Given the description of an element on the screen output the (x, y) to click on. 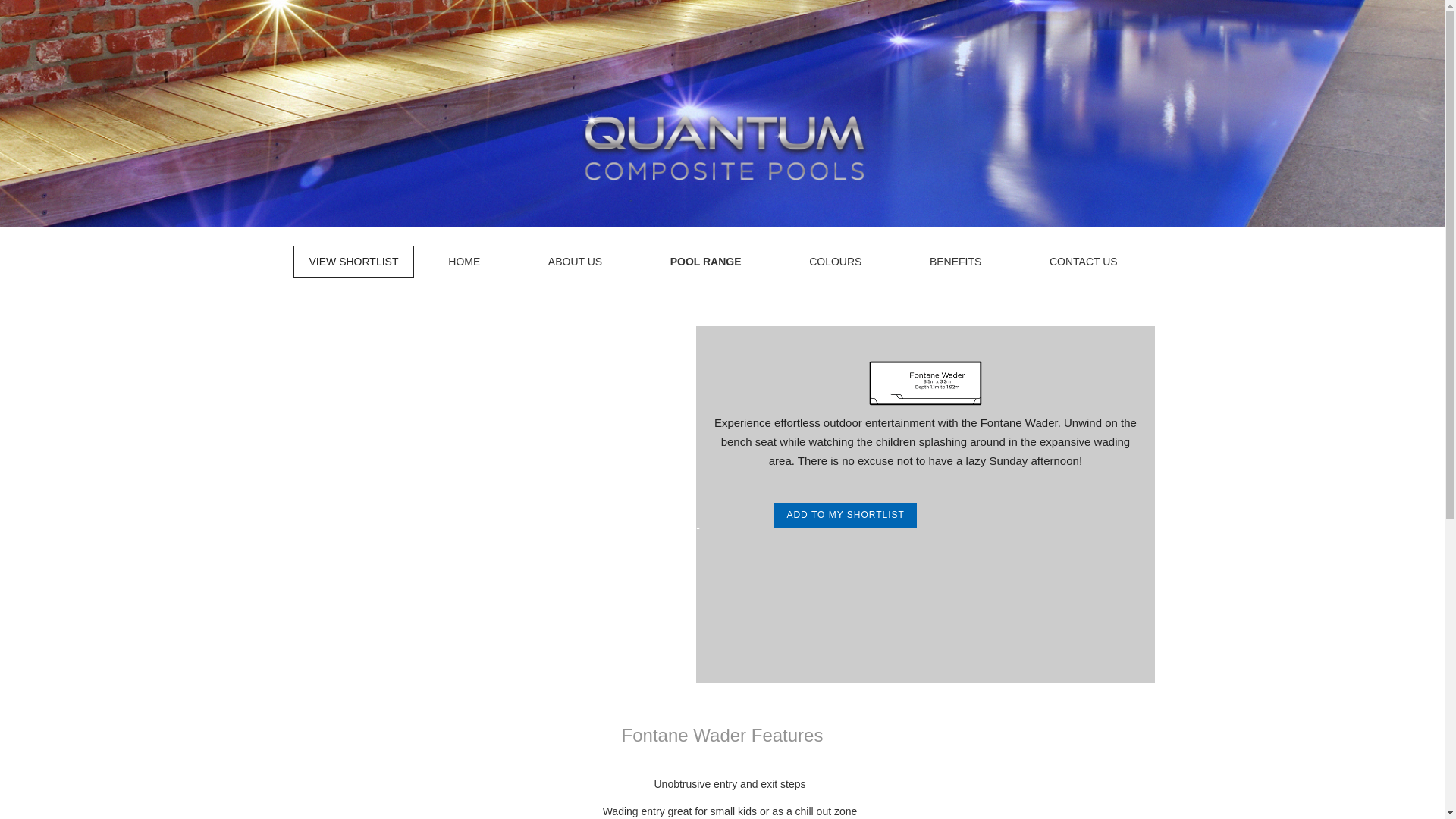
POOL RANGE (705, 261)
COLOURS (835, 261)
BENEFITS (954, 261)
CONTACT US (1083, 261)
ADD TO MY SHORTLIST (844, 514)
ABOUT US (575, 261)
VIEW SHORTLIST (352, 261)
HOME (464, 261)
